Given the description of an element on the screen output the (x, y) to click on. 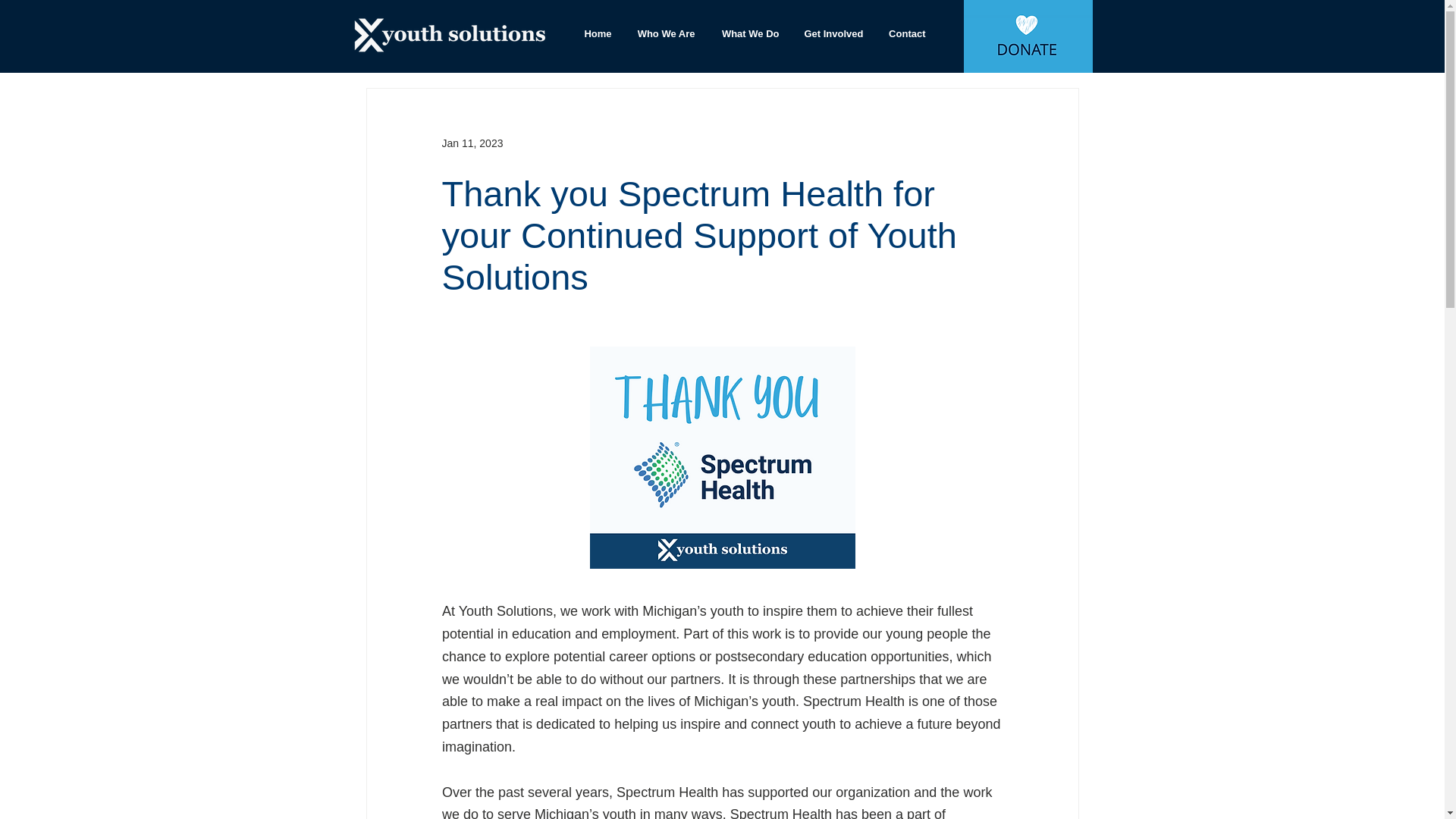
What We Do (748, 33)
Who We Are (664, 33)
Home (596, 33)
Contact (906, 33)
Jan 11, 2023 (471, 142)
Get Involved (832, 33)
